Given the description of an element on the screen output the (x, y) to click on. 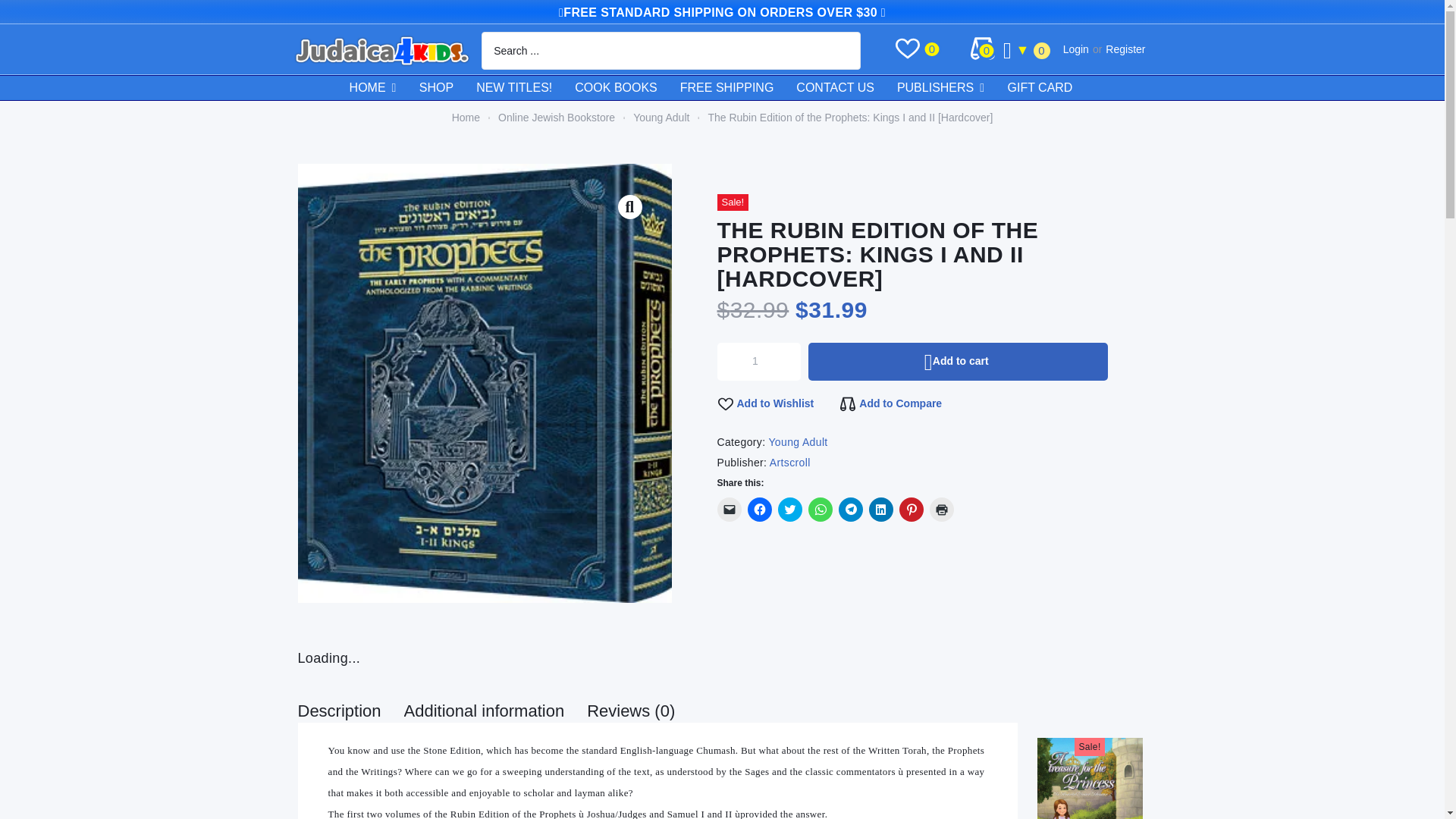
Click to share on LinkedIn (881, 509)
Click to share on WhatsApp (820, 509)
PUBLISHERS (951, 87)
0 (931, 50)
Click to share on Facebook (759, 509)
SHOP (447, 87)
COOK BOOKS (627, 87)
GIFT CARD (1050, 87)
0 (985, 50)
1 (759, 361)
NEW TITLES! (525, 87)
Shop (447, 87)
FREE SHIPPING (737, 87)
Click to email a link to a friend (729, 509)
Click to share on Telegram (850, 509)
